Given the description of an element on the screen output the (x, y) to click on. 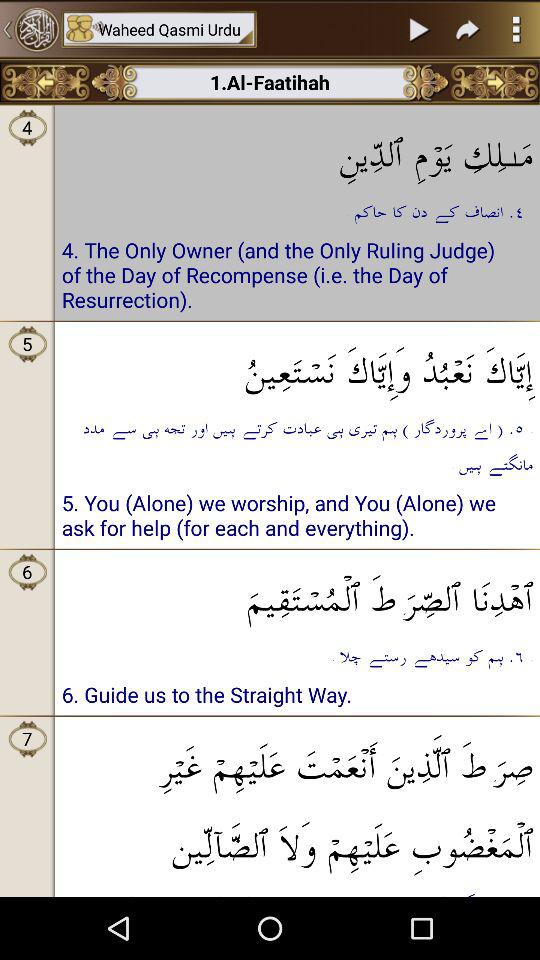
click on next (420, 29)
